Given the description of an element on the screen output the (x, y) to click on. 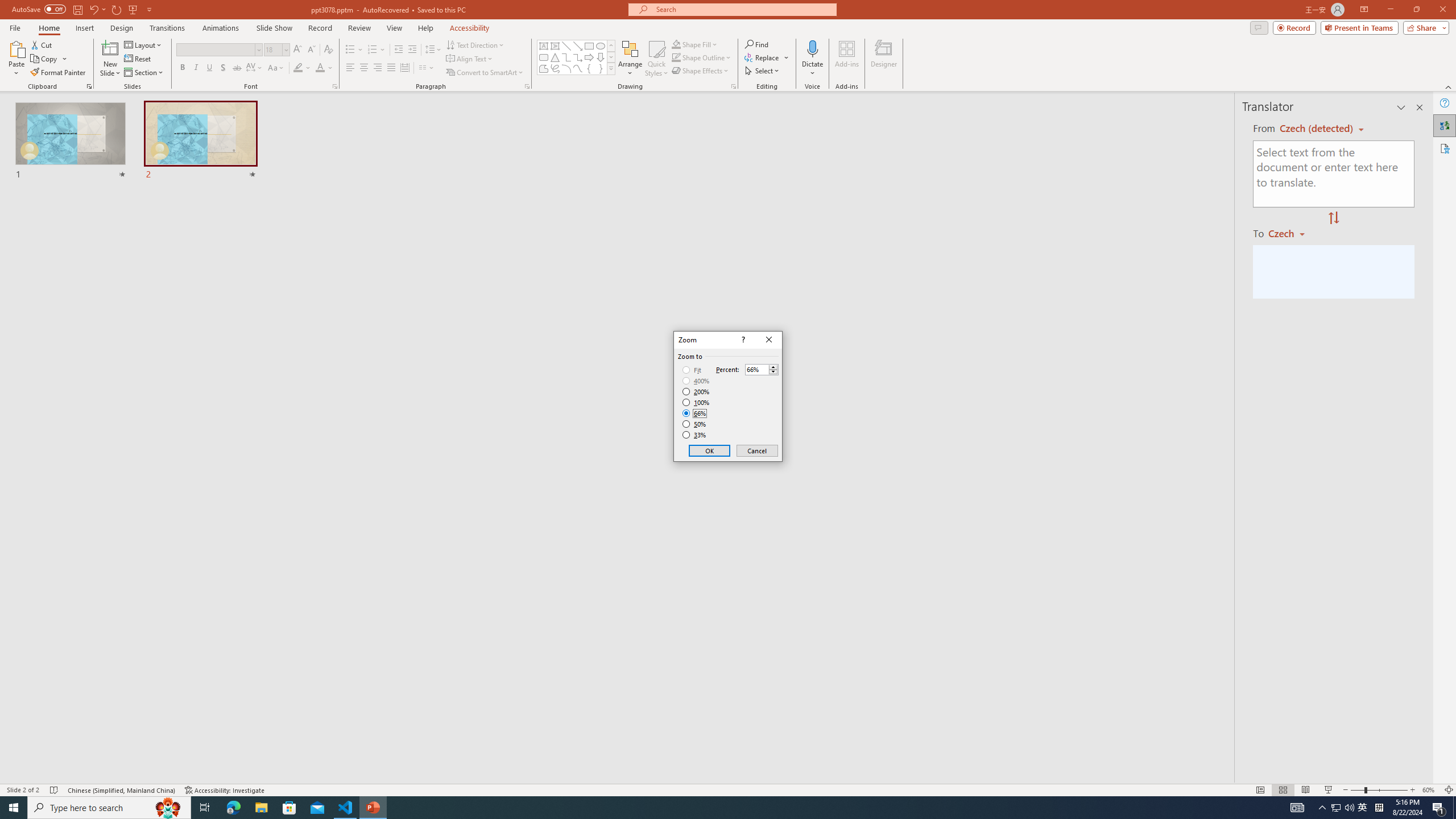
400% (696, 380)
33% (694, 434)
